Given the description of an element on the screen output the (x, y) to click on. 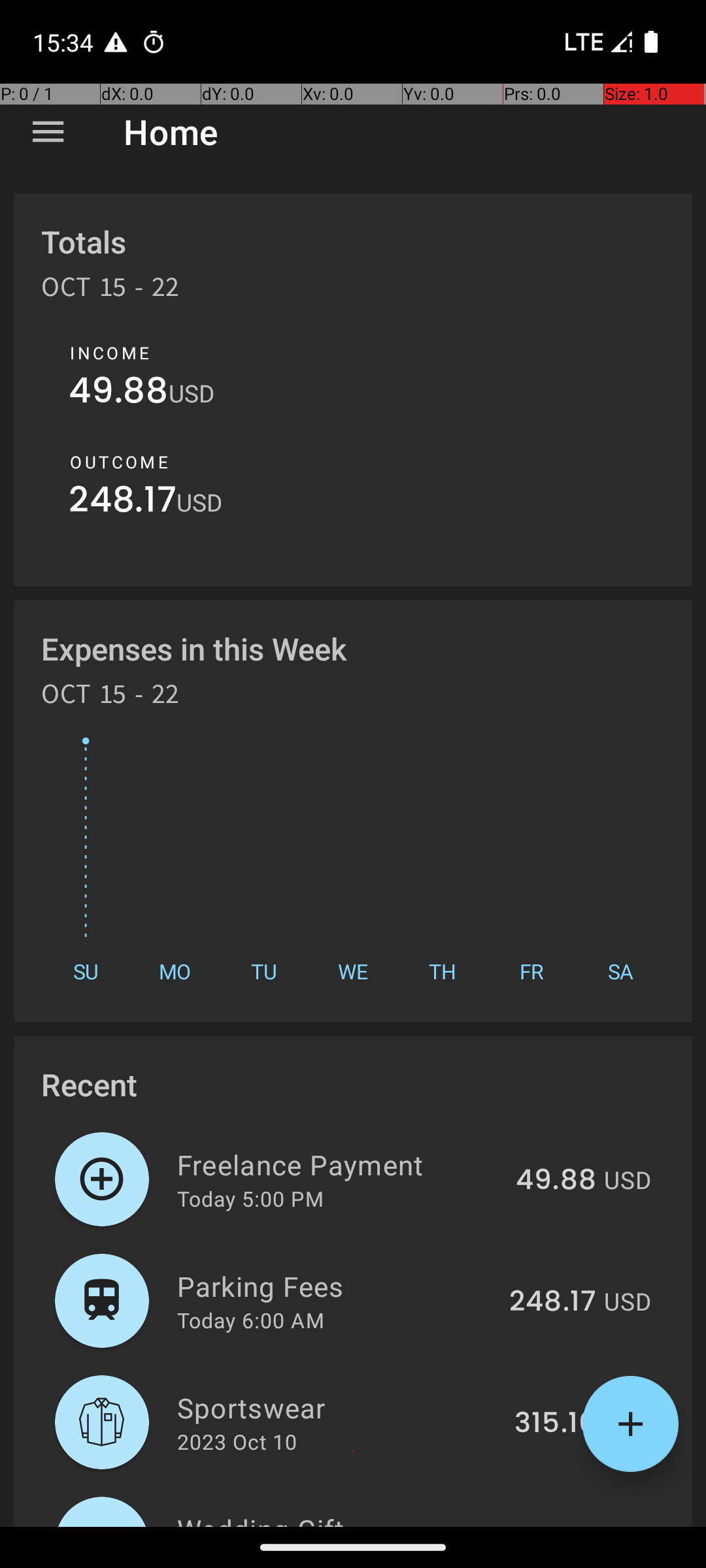
Totals Element type: android.widget.TextView (83, 240)
OCT 15 - 22 Element type: android.widget.TextView (110, 291)
INCOME Element type: android.widget.TextView (109, 352)
49.88 Element type: android.widget.TextView (118, 393)
OUTCOME Element type: android.widget.TextView (118, 461)
248.17 Element type: android.widget.TextView (122, 502)
Expenses in this Week Element type: android.widget.TextView (194, 648)
Freelance Payment Element type: android.widget.TextView (338, 1164)
Today 5:00 PM Element type: android.widget.TextView (250, 1198)
Parking Fees Element type: android.widget.TextView (335, 1285)
Today 6:00 AM Element type: android.widget.TextView (250, 1320)
Sportswear Element type: android.widget.TextView (338, 1407)
2023 Oct 10 Element type: android.widget.TextView (236, 1441)
315.16 Element type: android.widget.TextView (554, 1423)
Wedding Gift Element type: android.widget.TextView (330, 1518)
446.28 Element type: android.widget.TextView (547, 1524)
